Given the description of an element on the screen output the (x, y) to click on. 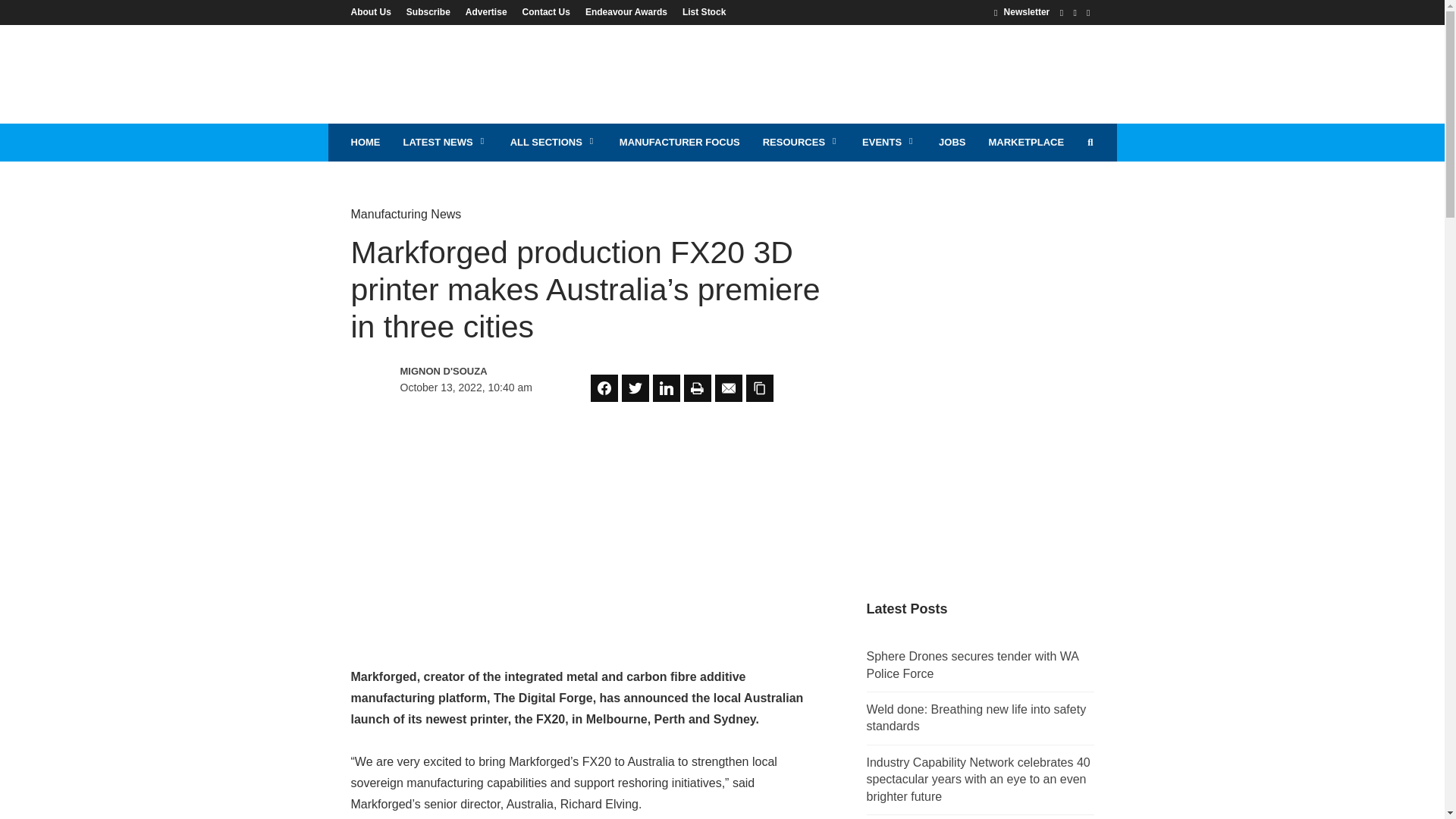
Share on Print (697, 388)
ALL SECTIONS (553, 142)
About Us (373, 11)
Advertise (486, 11)
LATEST NEWS (444, 142)
Share on Copy Link (759, 388)
Contact Us (546, 11)
Newsletter (1021, 11)
Share on Email (728, 388)
Share on LinkedIn (665, 388)
